Given the description of an element on the screen output the (x, y) to click on. 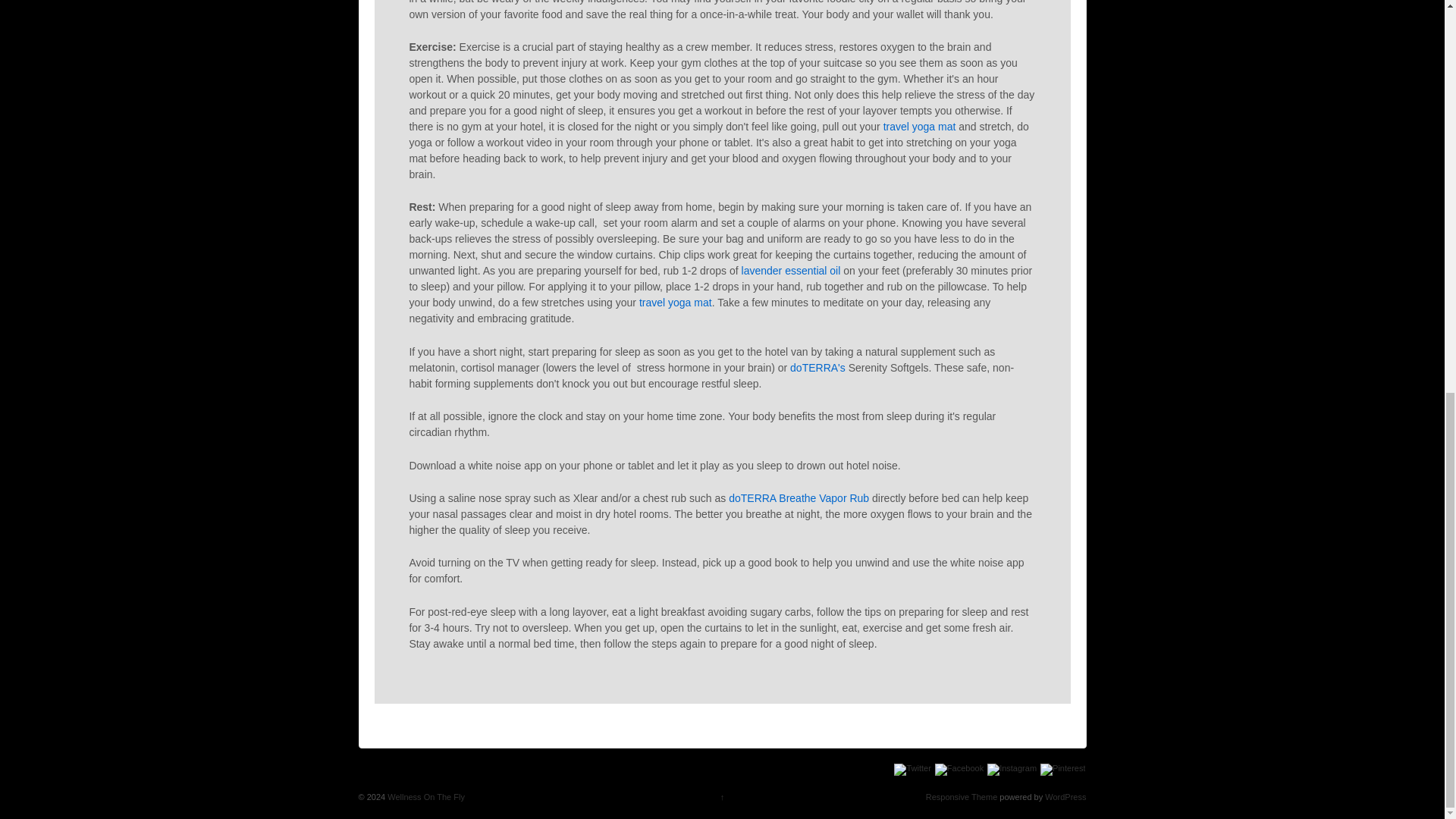
Wellness On The Fly (424, 796)
lavender essential oil (791, 270)
Responsive Theme (961, 796)
travel yoga mat (673, 302)
doTERRA's (816, 367)
WordPress (1065, 796)
travel yoga mat (919, 126)
doTERRA Breathe Vapor Rub (797, 498)
